Given the description of an element on the screen output the (x, y) to click on. 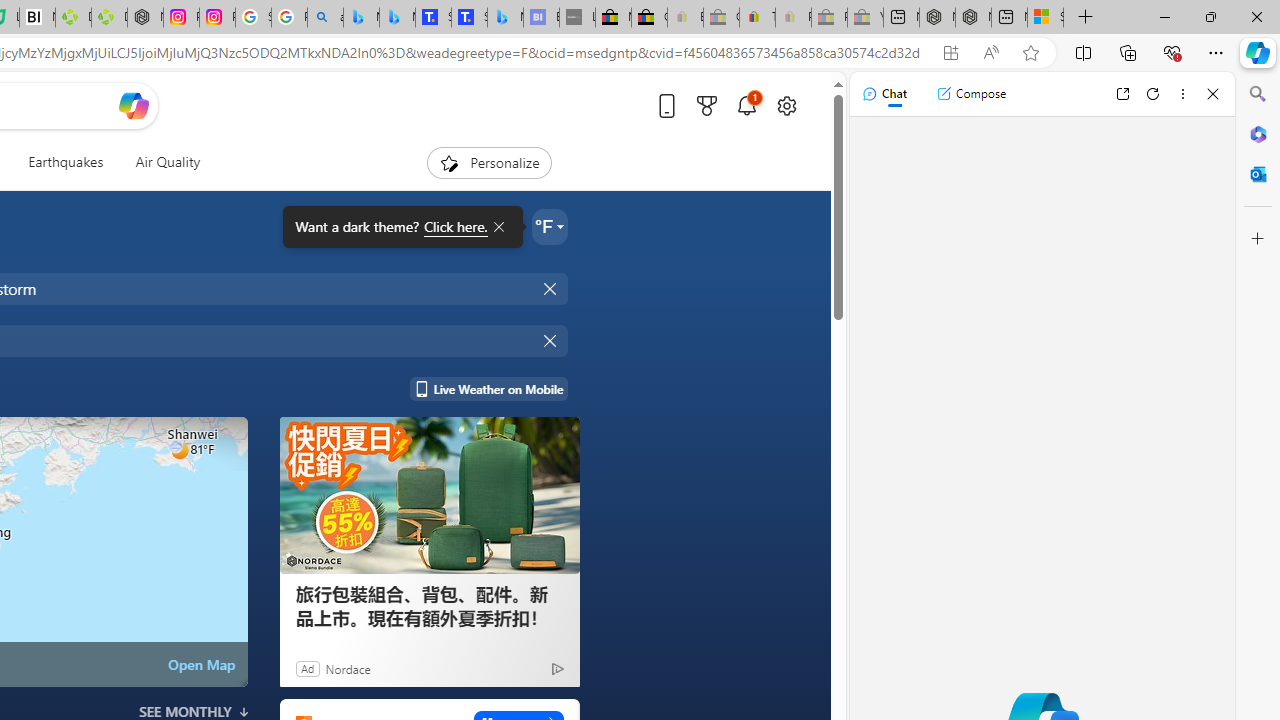
Open Map (201, 664)
Threats and offensive language policy | eBay (756, 17)
Microsoft Bing Travel - Flights from Hong Kong to Bangkok (361, 17)
Shangri-La Bangkok, Hotel reviews and Room rates (469, 17)
Hide (551, 340)
